Given the description of an element on the screen output the (x, y) to click on. 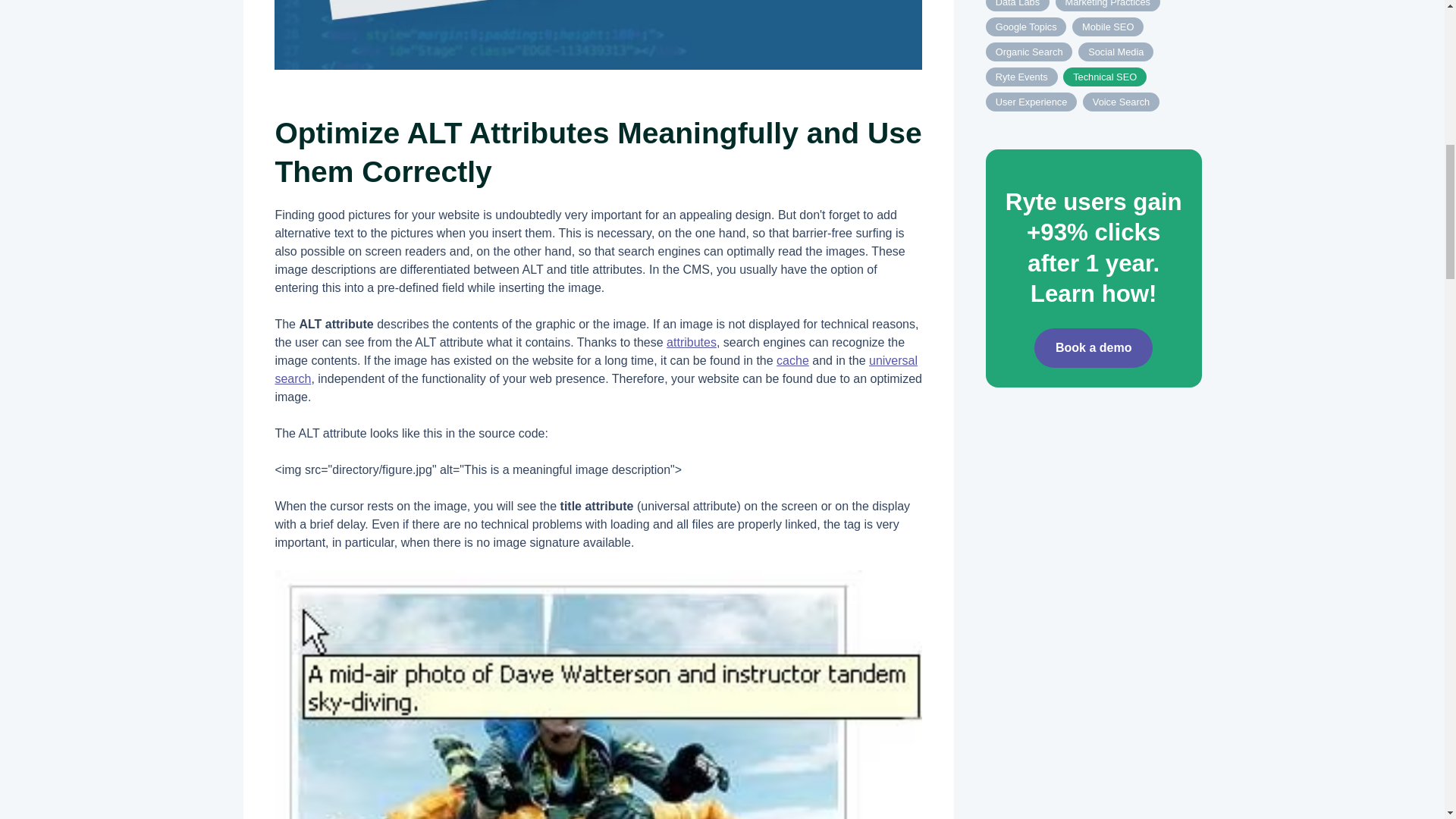
cache (792, 359)
attributes (691, 341)
universal search (596, 368)
Data Labs (1017, 5)
